Given the description of an element on the screen output the (x, y) to click on. 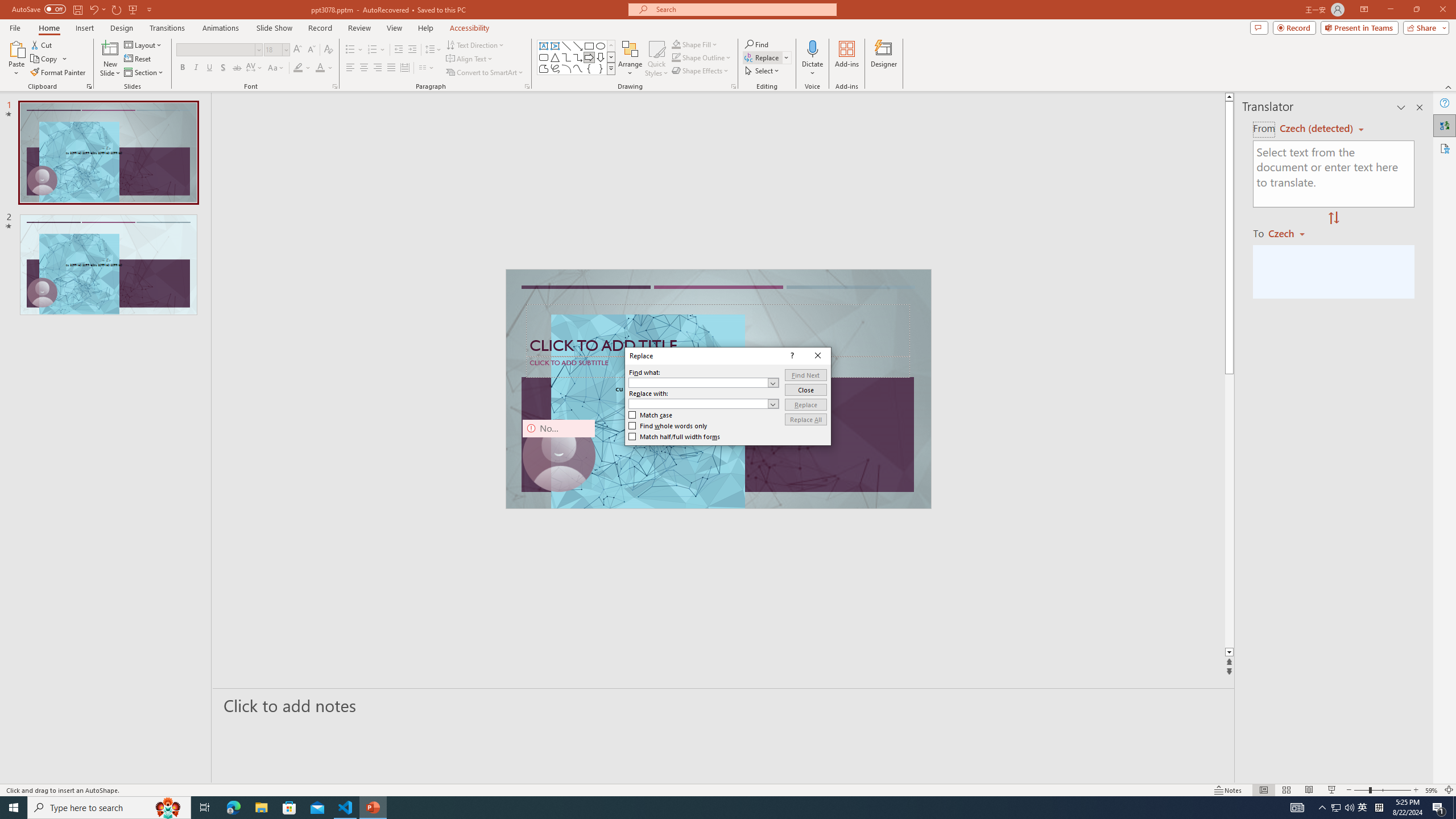
Swap "from" and "to" languages. (1333, 218)
Microsoft Edge (233, 807)
